Given the description of an element on the screen output the (x, y) to click on. 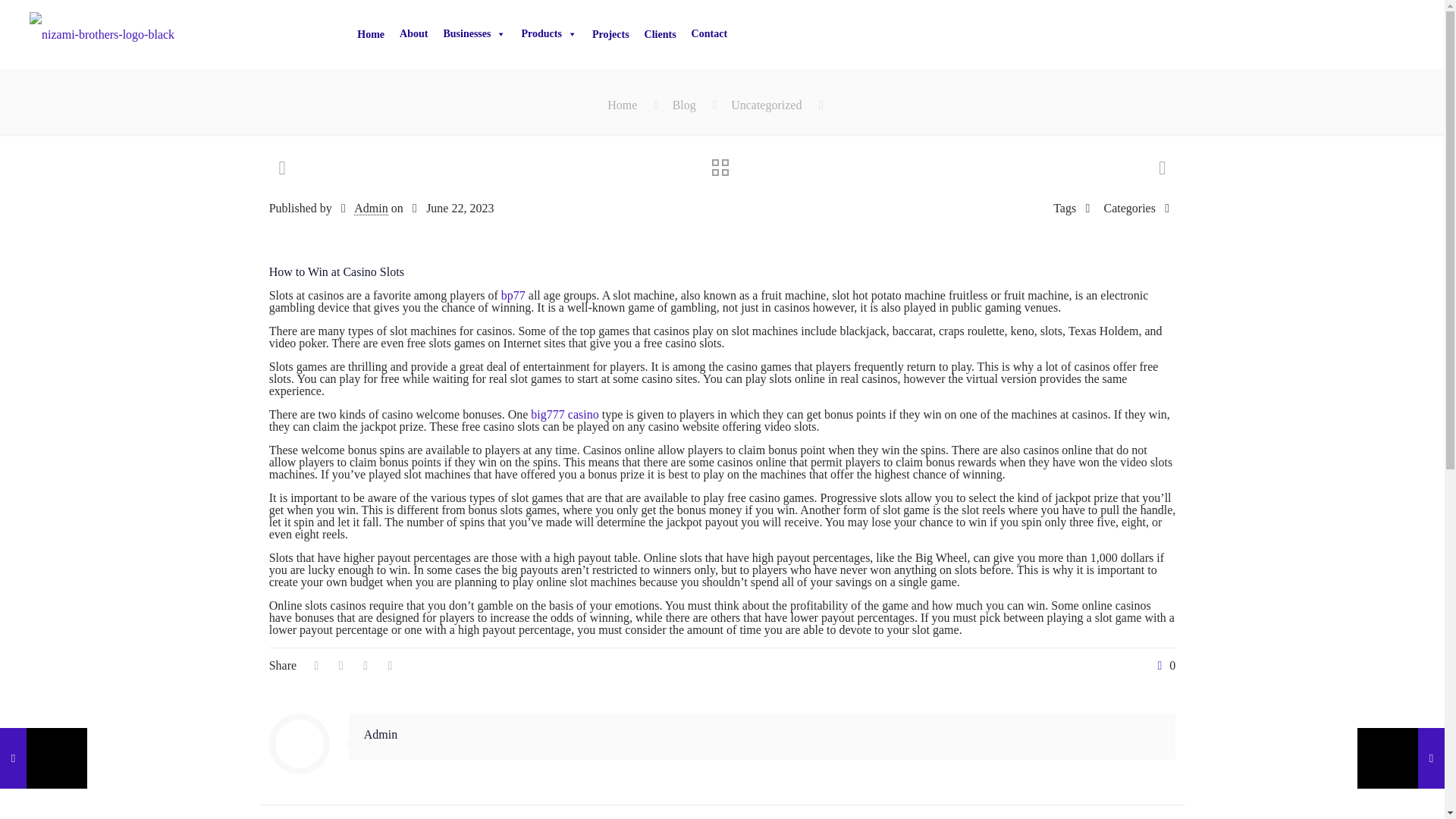
Contact (709, 33)
Blog (683, 104)
About (413, 33)
Clients (660, 33)
Businesses (474, 33)
Home (370, 33)
Nizami Brothers (101, 33)
Uncategorized (766, 104)
Products (548, 33)
Home (622, 104)
Admin (370, 208)
Projects (611, 33)
